Given the description of an element on the screen output the (x, y) to click on. 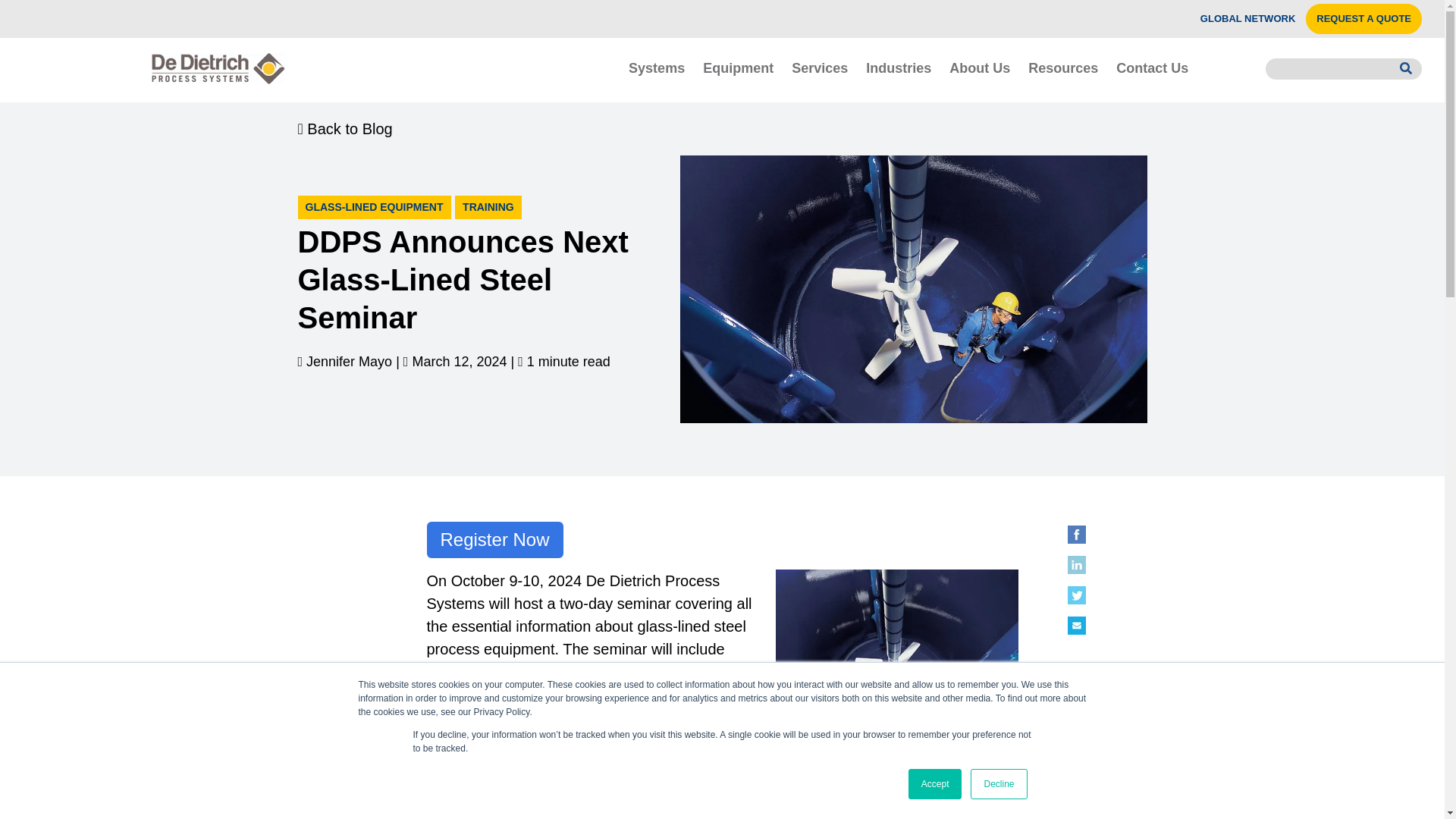
Systems (657, 67)
GLOBAL NETWORK (1247, 19)
Equipment (738, 67)
Accept (935, 784)
REQUEST A QUOTE (1364, 19)
ddps-logo-md (218, 68)
Register Now (494, 539)
Decline (998, 784)
